Given the description of an element on the screen output the (x, y) to click on. 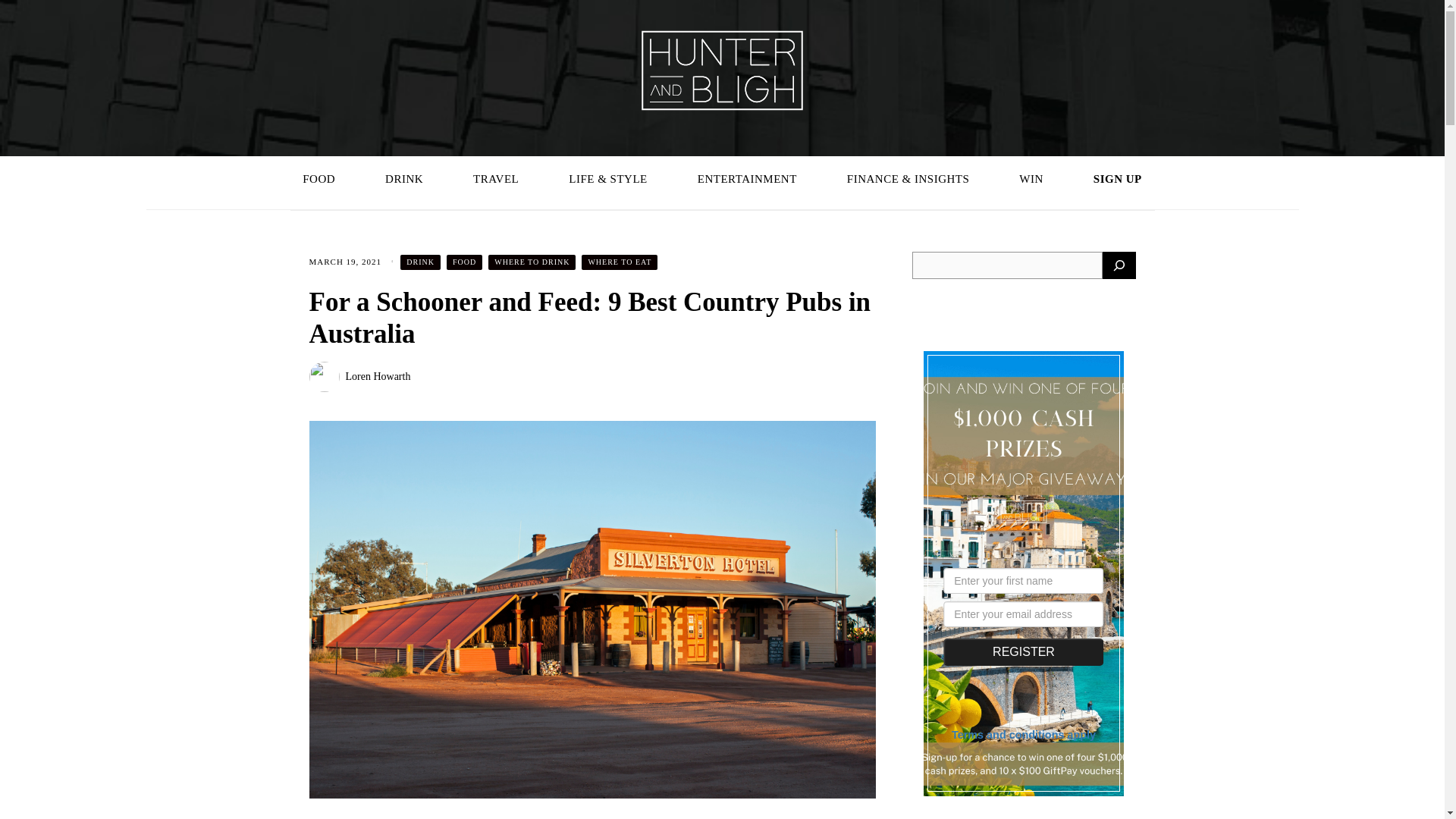
Posts by Loren Howarth (378, 376)
